Given the description of an element on the screen output the (x, y) to click on. 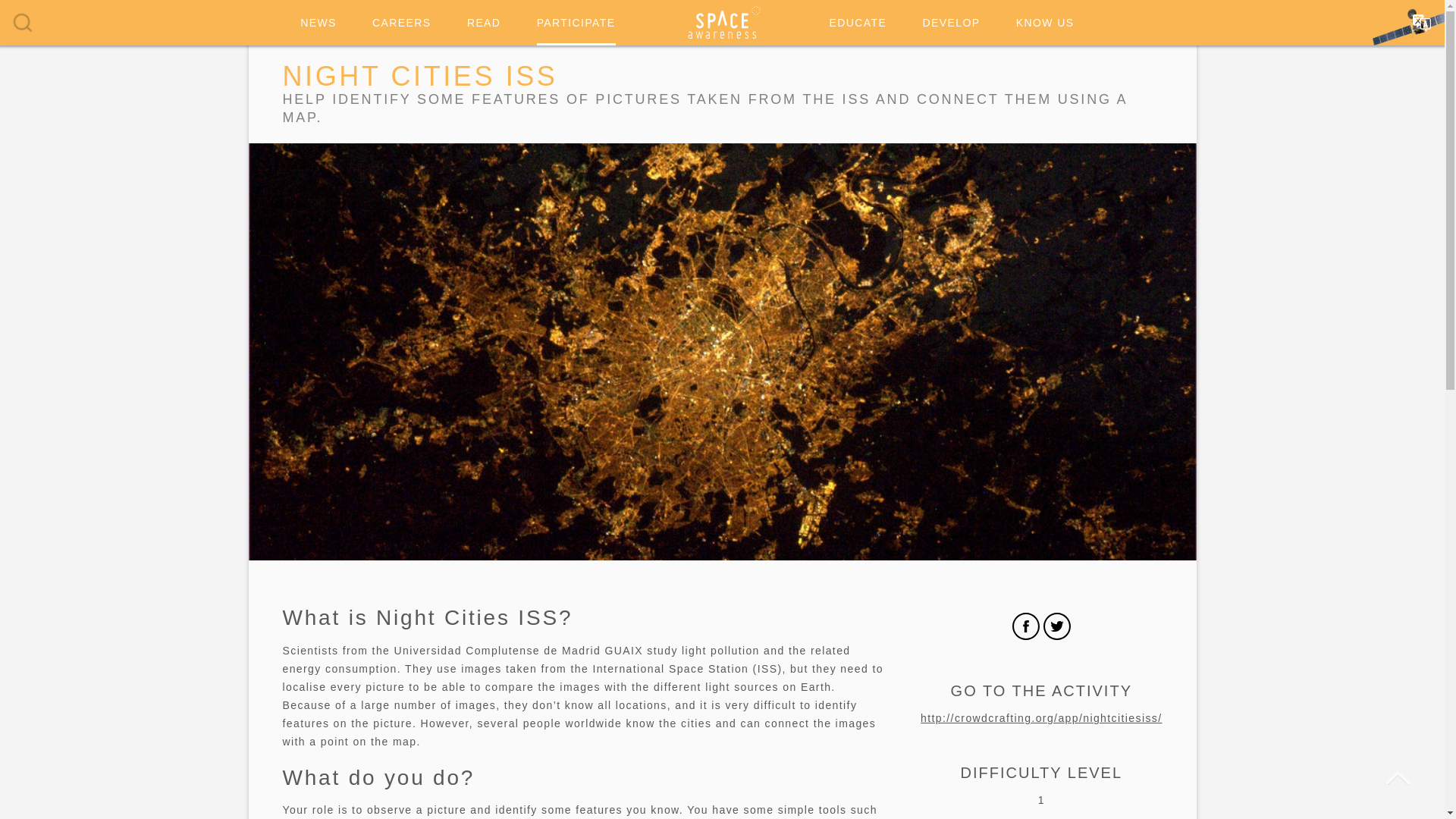
EDUCATE (857, 22)
CAREERS (401, 22)
DEVELOP (950, 22)
KNOW US (1045, 22)
PARTICIPATE (576, 22)
